Given the description of an element on the screen output the (x, y) to click on. 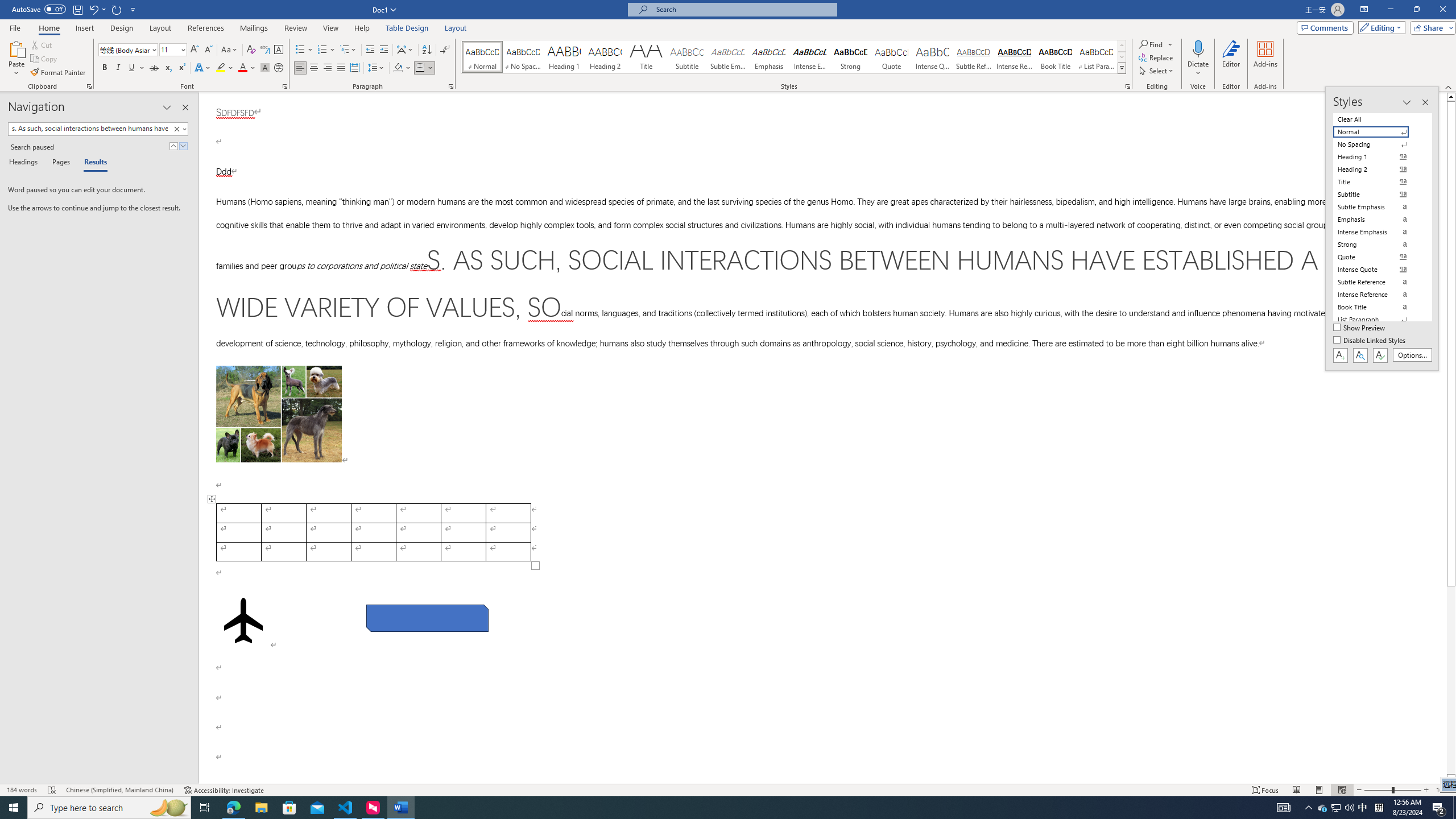
Intense Reference (1014, 56)
Clear (178, 128)
No Spacing (1377, 144)
Editing (1379, 27)
